Given the description of an element on the screen output the (x, y) to click on. 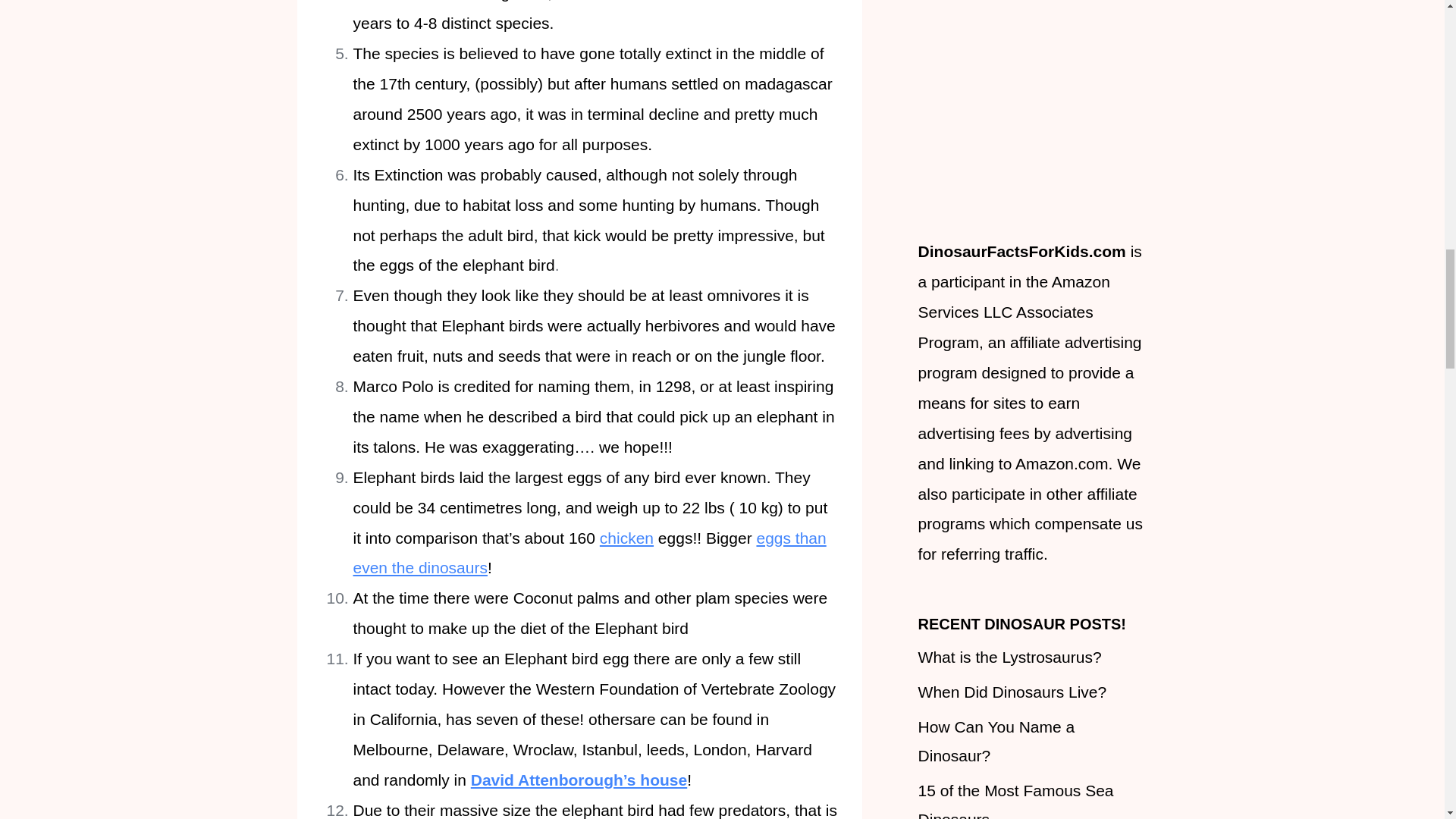
eggs than even the dinosaurs (590, 553)
chicken (626, 538)
